Given the description of an element on the screen output the (x, y) to click on. 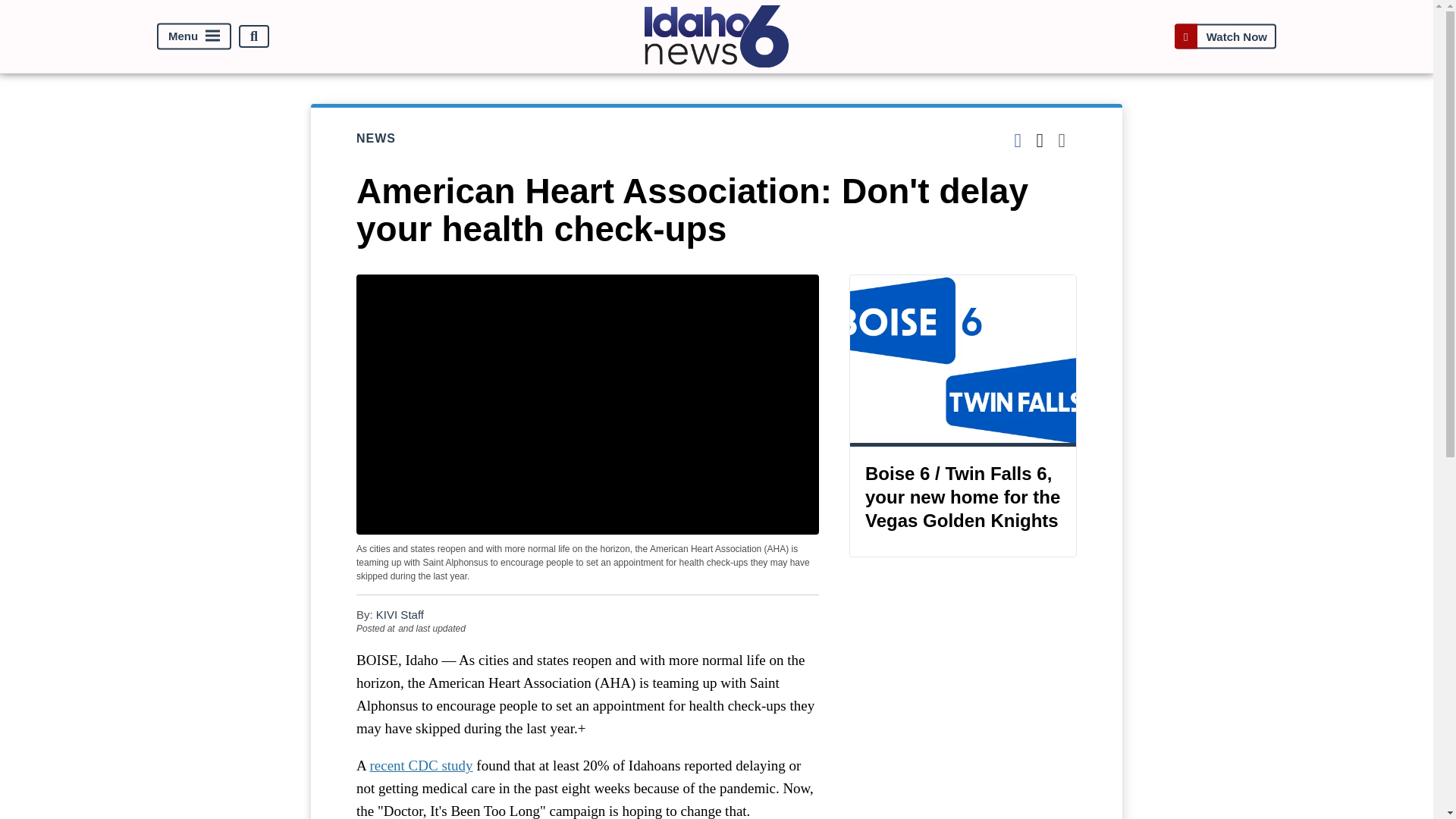
Menu (194, 36)
Watch Now (1224, 36)
